Given the description of an element on the screen output the (x, y) to click on. 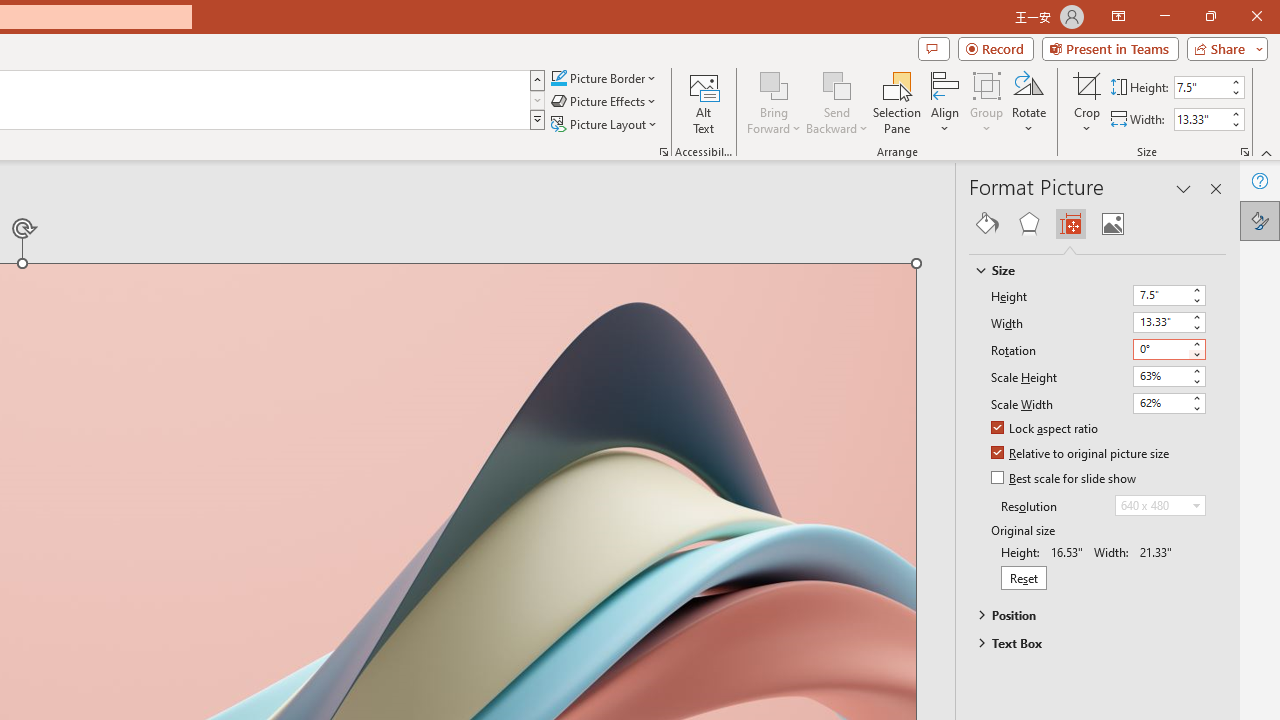
Picture Border (603, 78)
Align (945, 102)
Picture Effects (605, 101)
Scale Width (1168, 403)
Fill & Line (987, 223)
Selection Pane... (897, 102)
Position (1088, 615)
Bring Forward (773, 102)
Best scale for slide show (1065, 479)
